Given the description of an element on the screen output the (x, y) to click on. 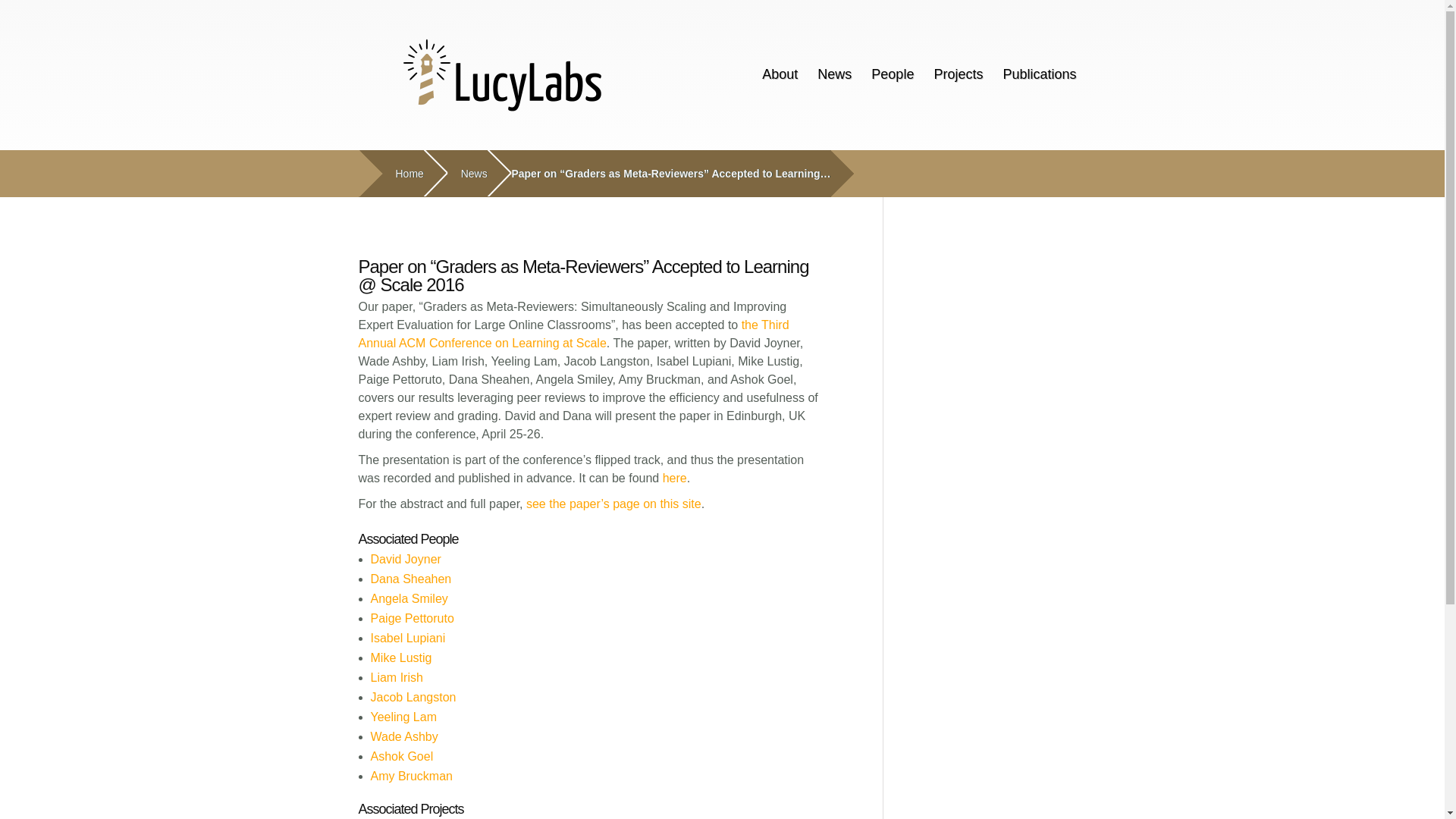
News (834, 73)
Dana Sheahen (410, 578)
Publications (1039, 73)
David Joyner (405, 558)
here (674, 477)
Projects (957, 73)
Isabel Lupiani (407, 637)
the Third Annual ACM Conference on Learning at Scale (573, 333)
Paige Pettoruto (410, 617)
Mike Lustig (399, 657)
Liam Irish (395, 676)
Amy Bruckman (410, 775)
Ashok Goel (400, 756)
Yeeling Lam (402, 716)
Angela Smiley (407, 598)
